Given the description of an element on the screen output the (x, y) to click on. 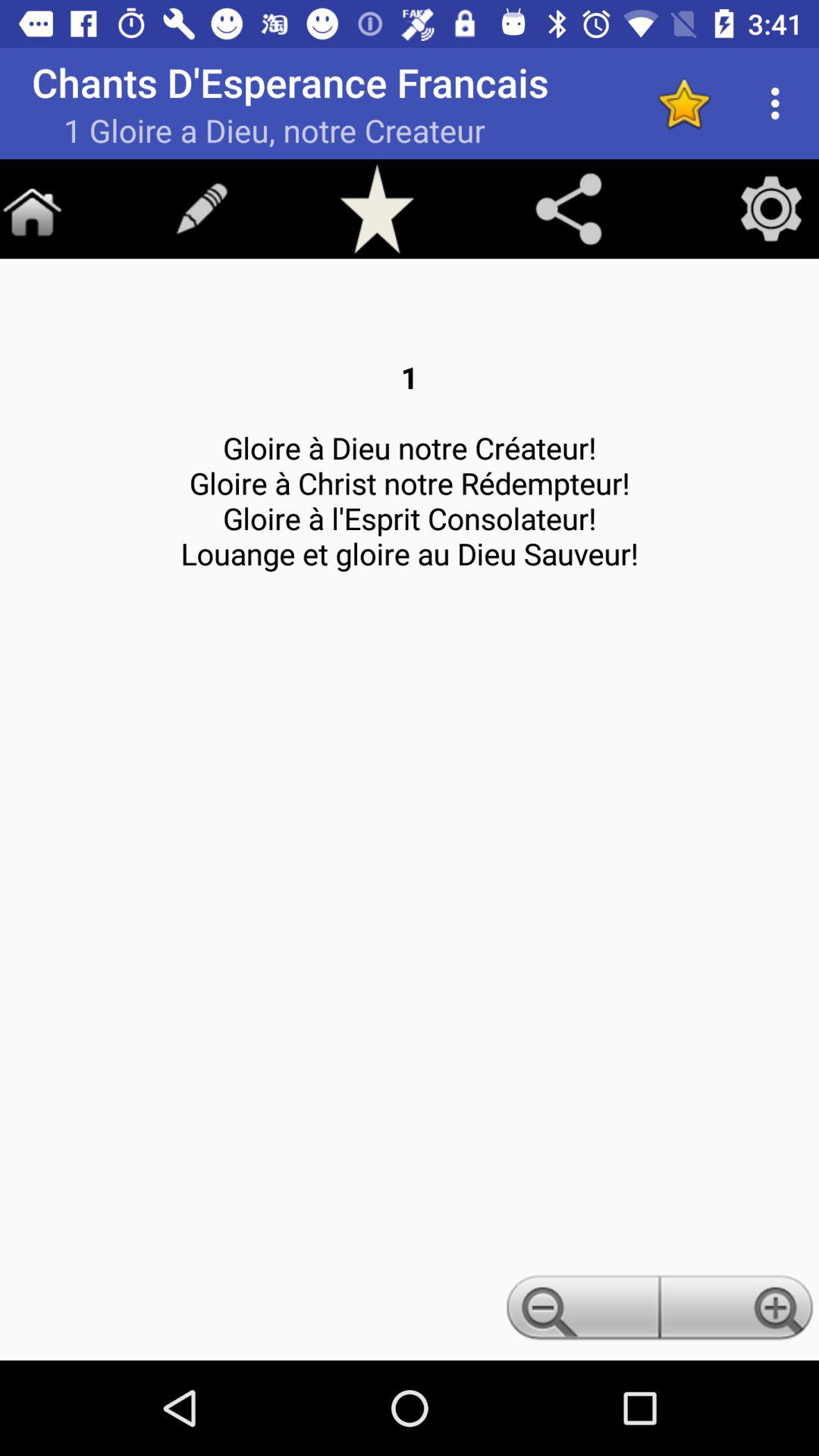
go to home screen (31, 208)
